Given the description of an element on the screen output the (x, y) to click on. 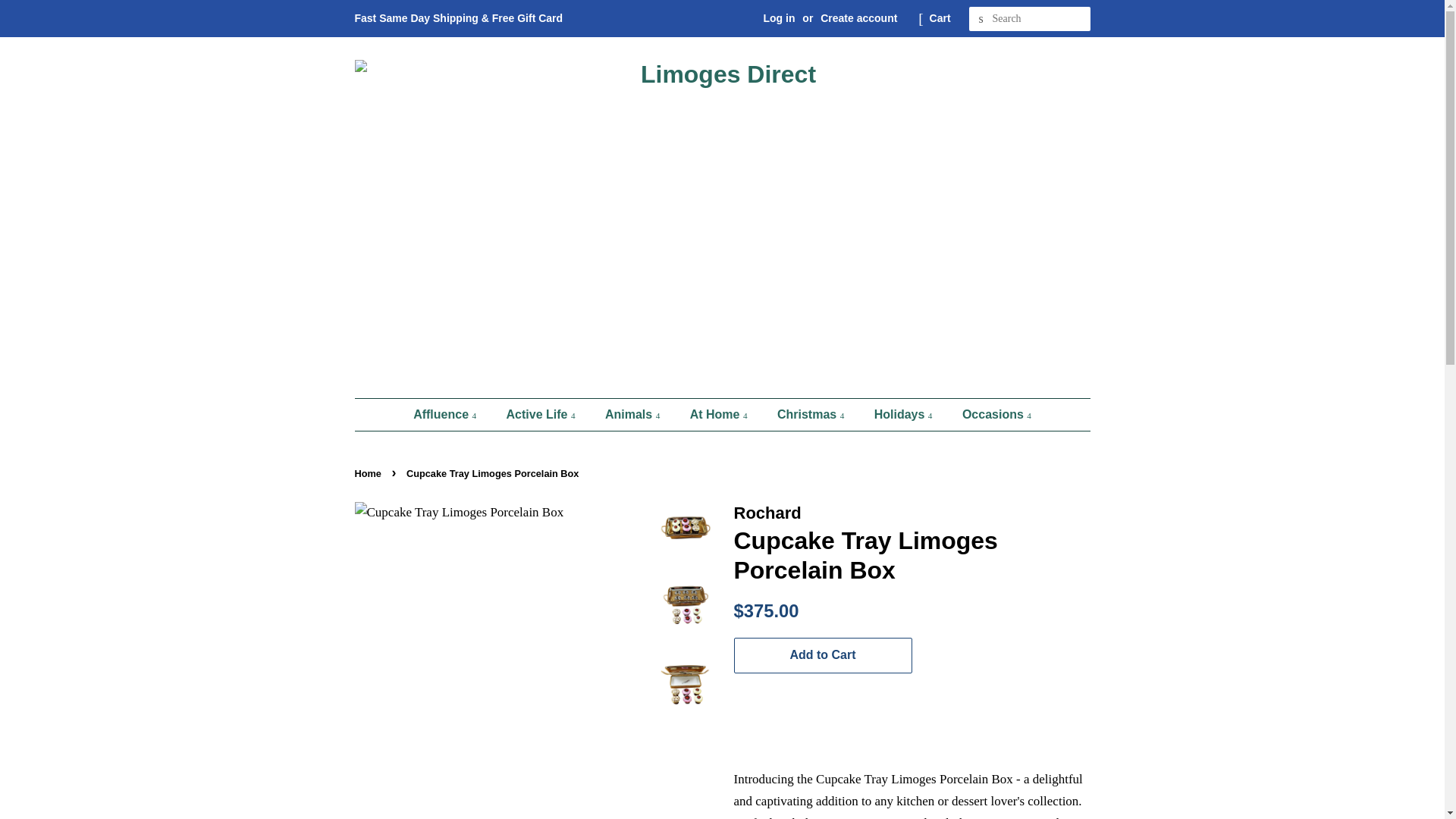
Create account (858, 18)
Back to the frontpage (370, 473)
Search (980, 18)
Log in (778, 18)
Cart (940, 18)
